Given the description of an element on the screen output the (x, y) to click on. 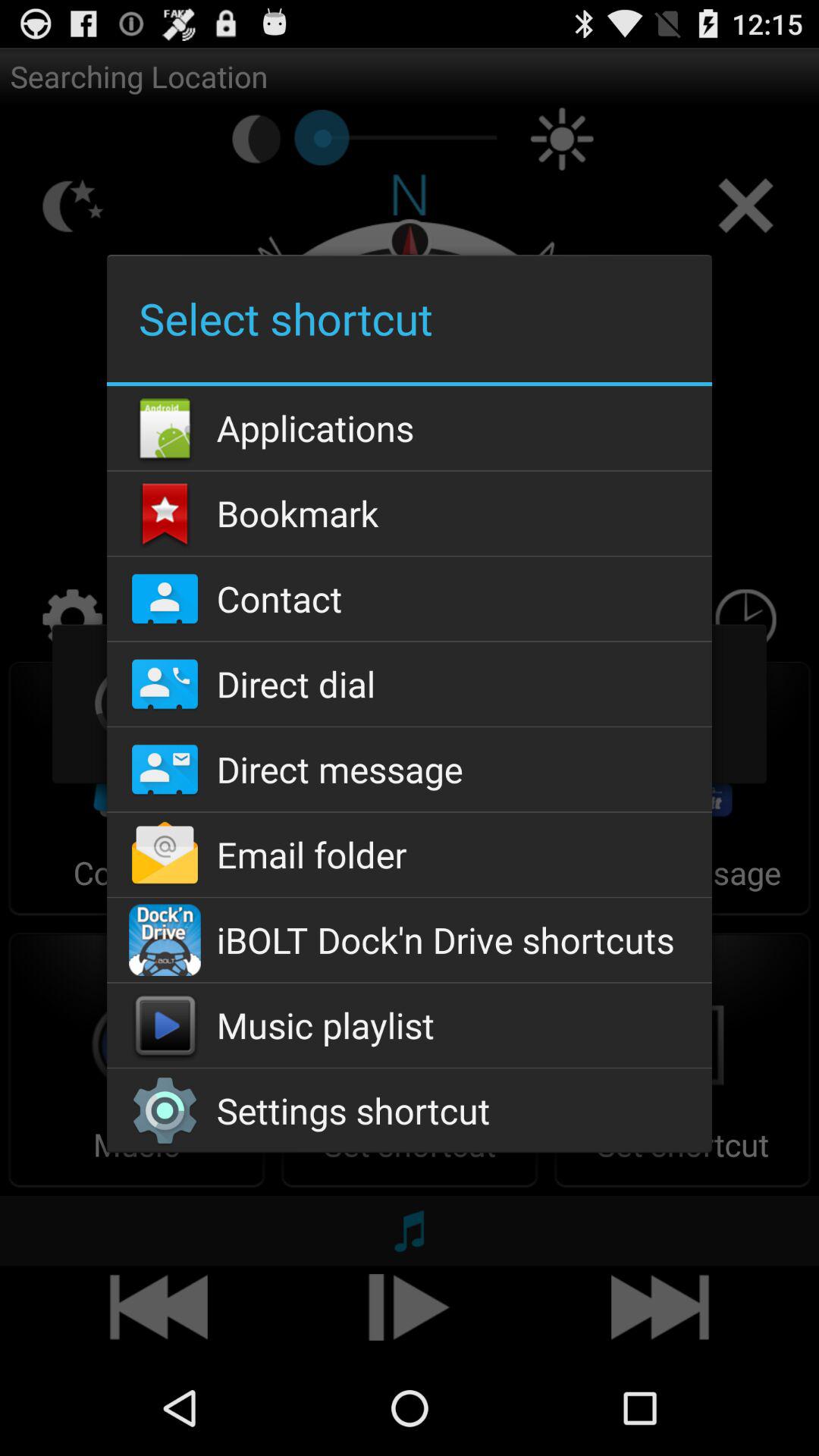
open the app below direct dial icon (409, 769)
